Given the description of an element on the screen output the (x, y) to click on. 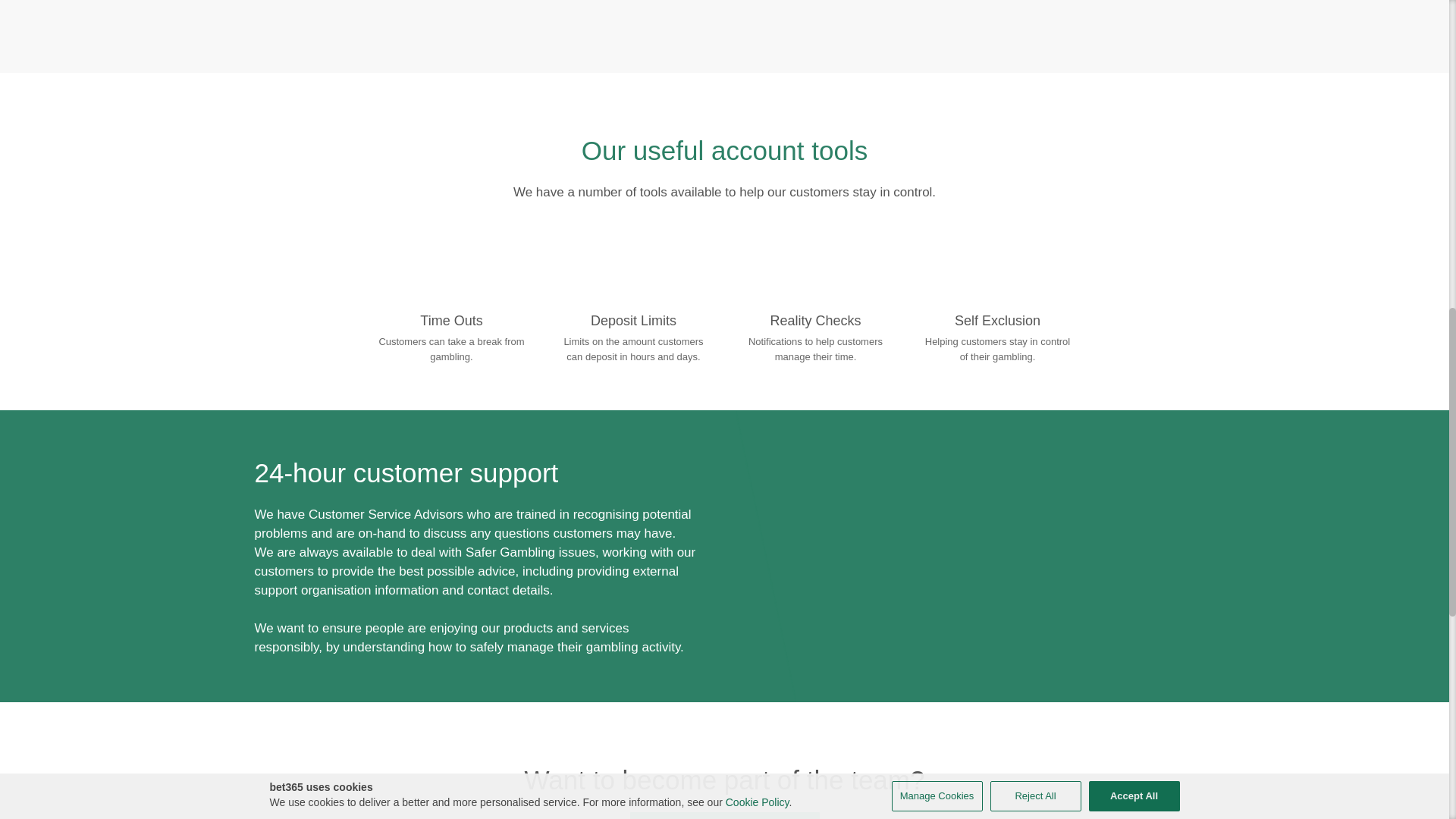
Find a Vacancy (723, 815)
